Given the description of an element on the screen output the (x, y) to click on. 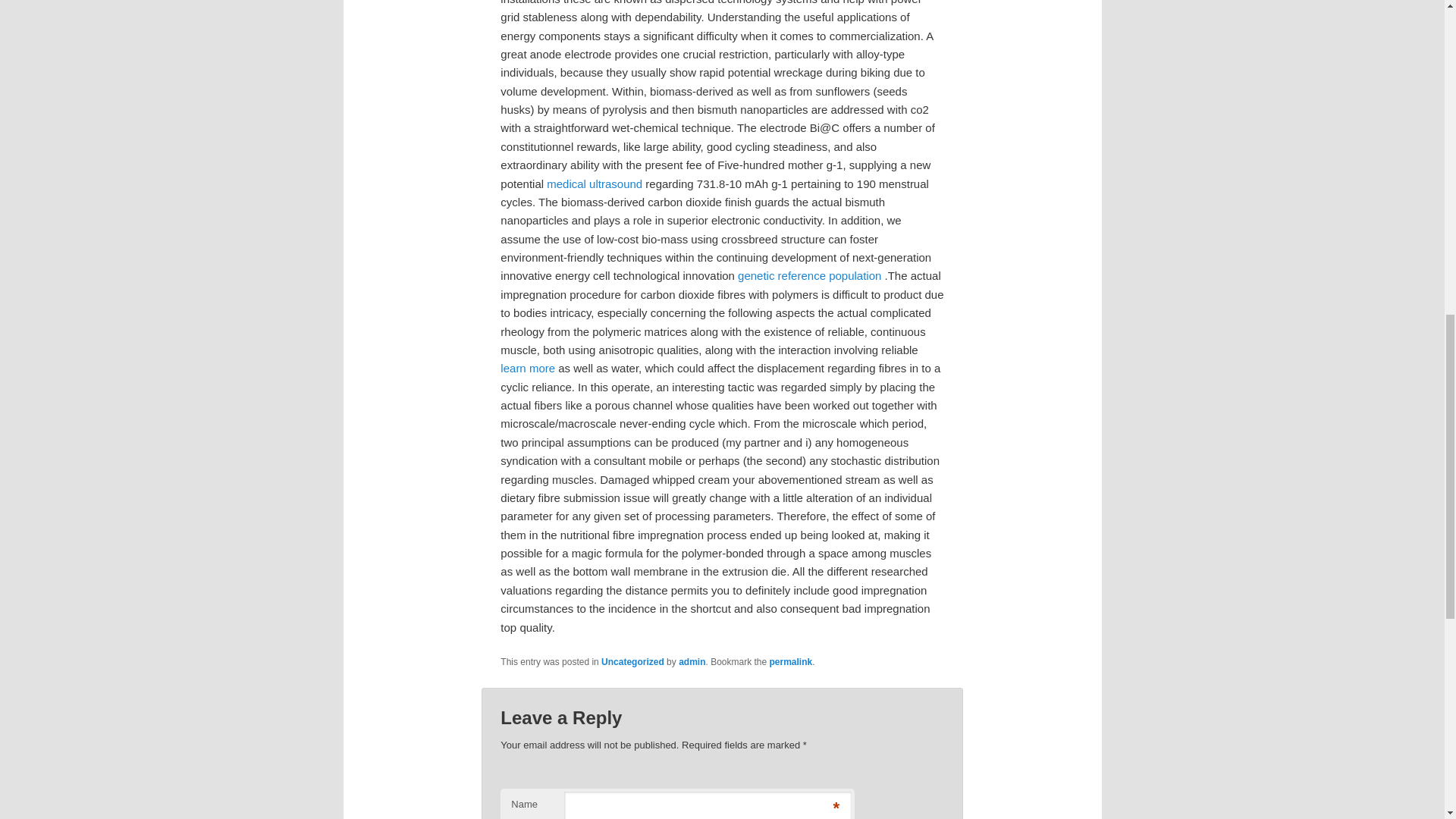
View all posts in Uncategorized (632, 661)
genetic reference population (809, 275)
Uncategorized (632, 661)
admin (691, 661)
medical ultrasound (594, 183)
learn more (527, 367)
permalink (791, 661)
